Given the description of an element on the screen output the (x, y) to click on. 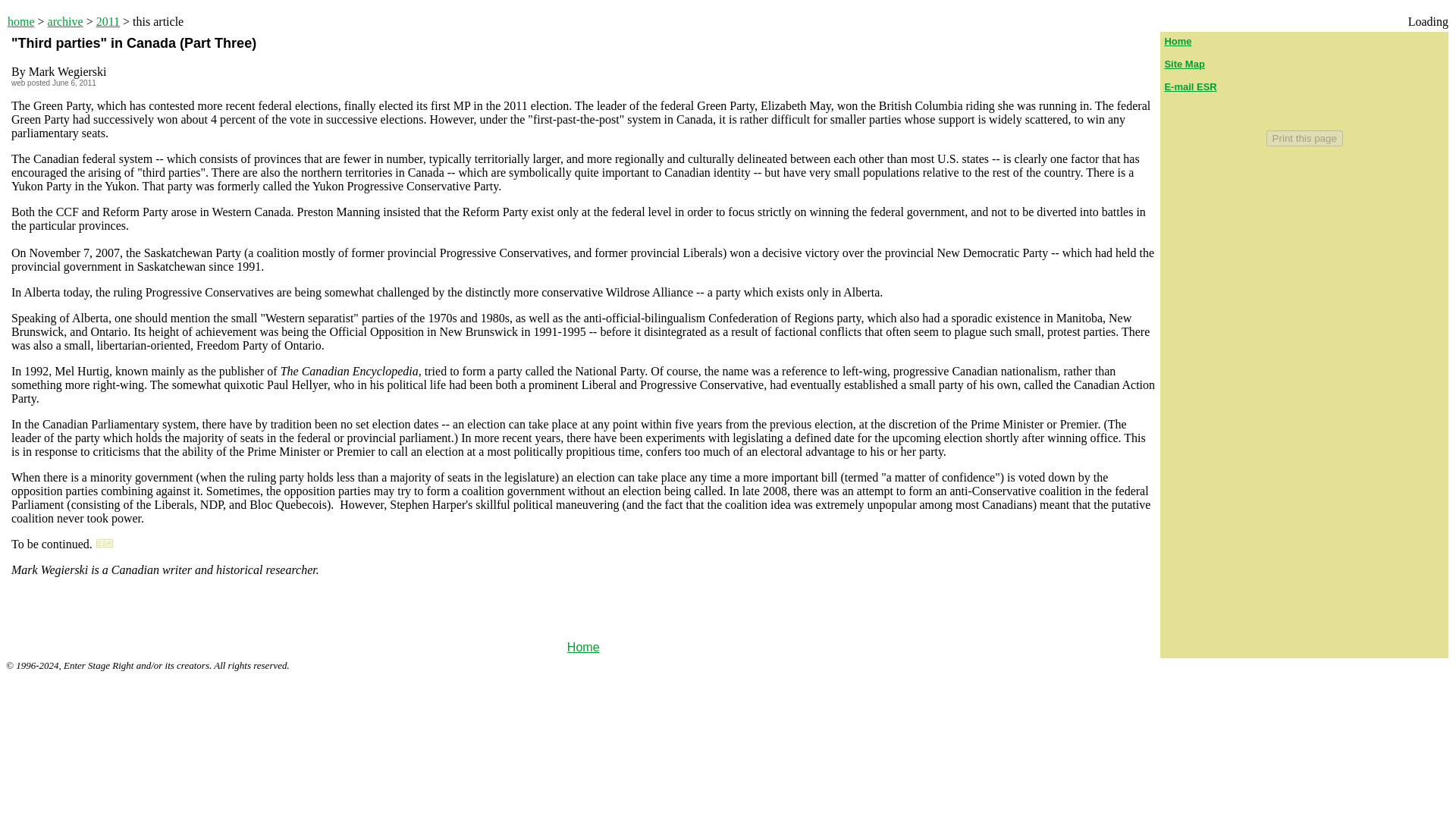
Print this page (1304, 138)
home (20, 21)
2011 (107, 21)
archive (65, 21)
Home (583, 646)
Home (1177, 41)
E-mail ESR (1189, 86)
Site Map (1183, 63)
